Given the description of an element on the screen output the (x, y) to click on. 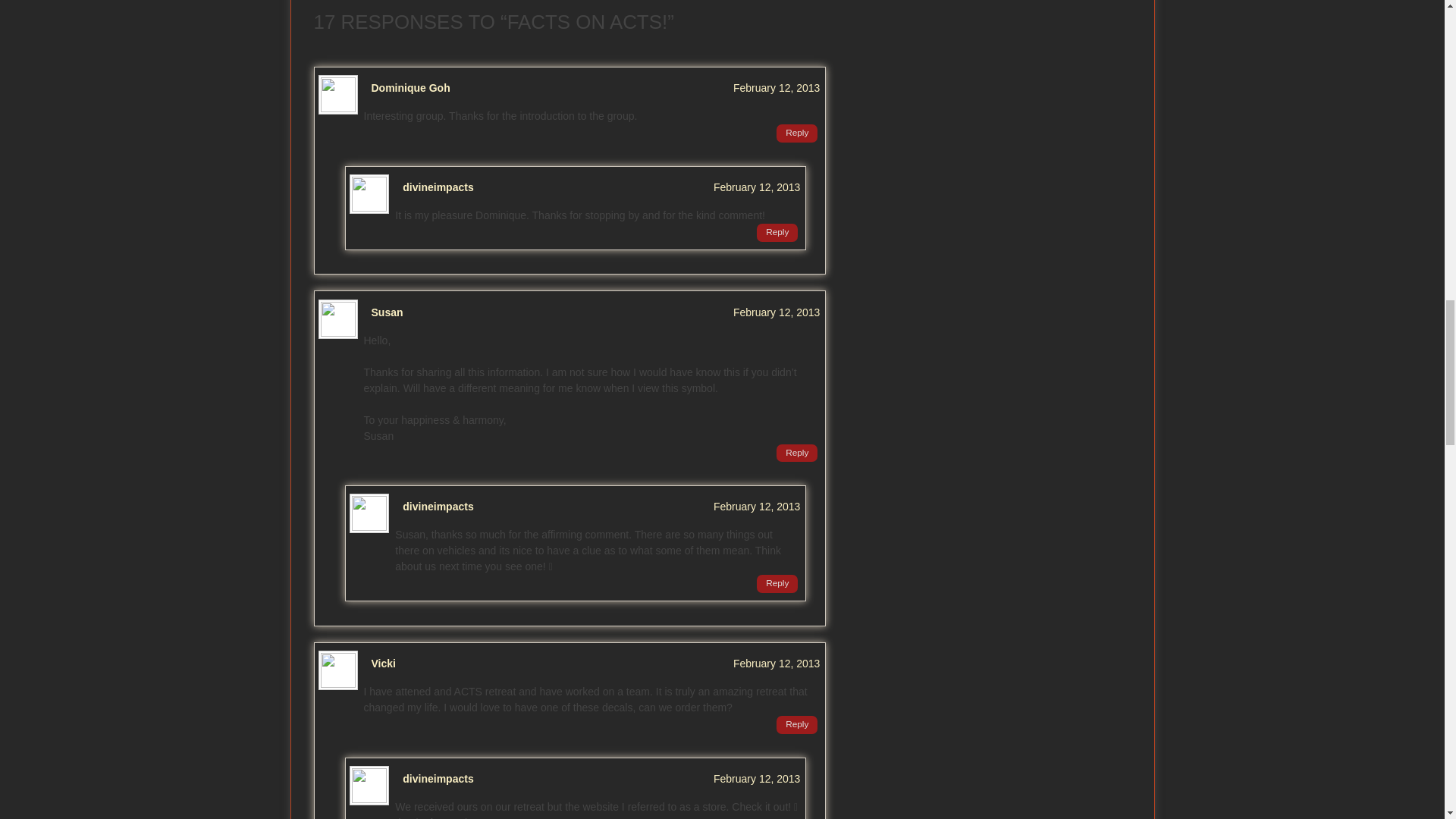
Reply (777, 232)
February 12, 2013 (776, 663)
Reply (796, 133)
February 12, 2013 (776, 312)
February 12, 2013 (756, 186)
Susan (387, 312)
February 12, 2013 (756, 778)
February 12, 2013 (776, 87)
Dominique Goh (410, 87)
divineimpacts (438, 506)
